Given the description of an element on the screen output the (x, y) to click on. 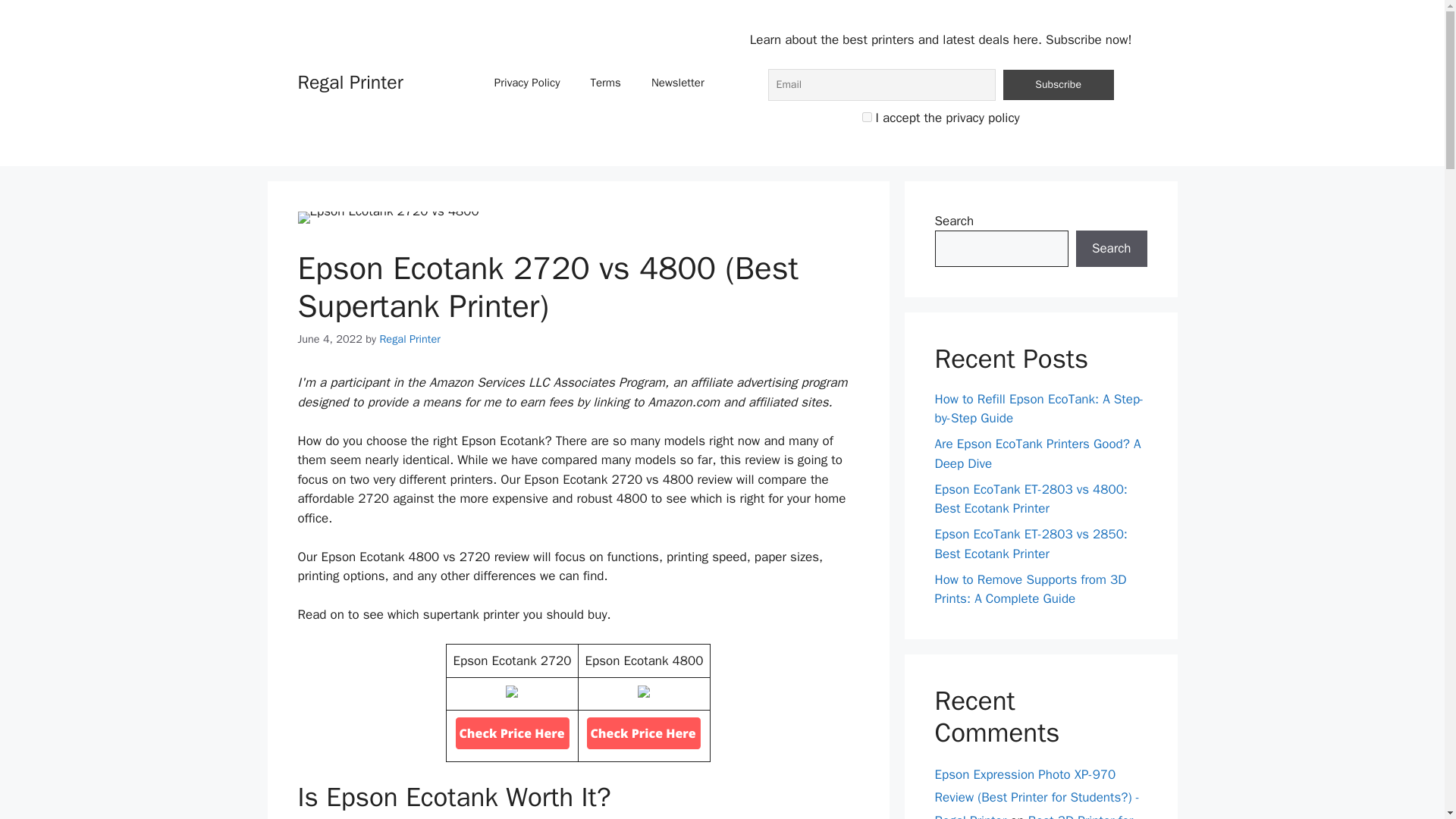
Privacy Policy (527, 82)
Subscribe (1058, 84)
Subscribe (1058, 84)
on (865, 117)
Terms (604, 82)
View all posts by Regal Printer (408, 338)
Epson EcoTank ET-2803 vs 2850: Best Ecotank Printer (1030, 543)
Regal Printer (350, 82)
Regal Printer (408, 338)
Epson EcoTank ET-2803 vs 4800: Best Ecotank Printer (1030, 498)
